Given the description of an element on the screen output the (x, y) to click on. 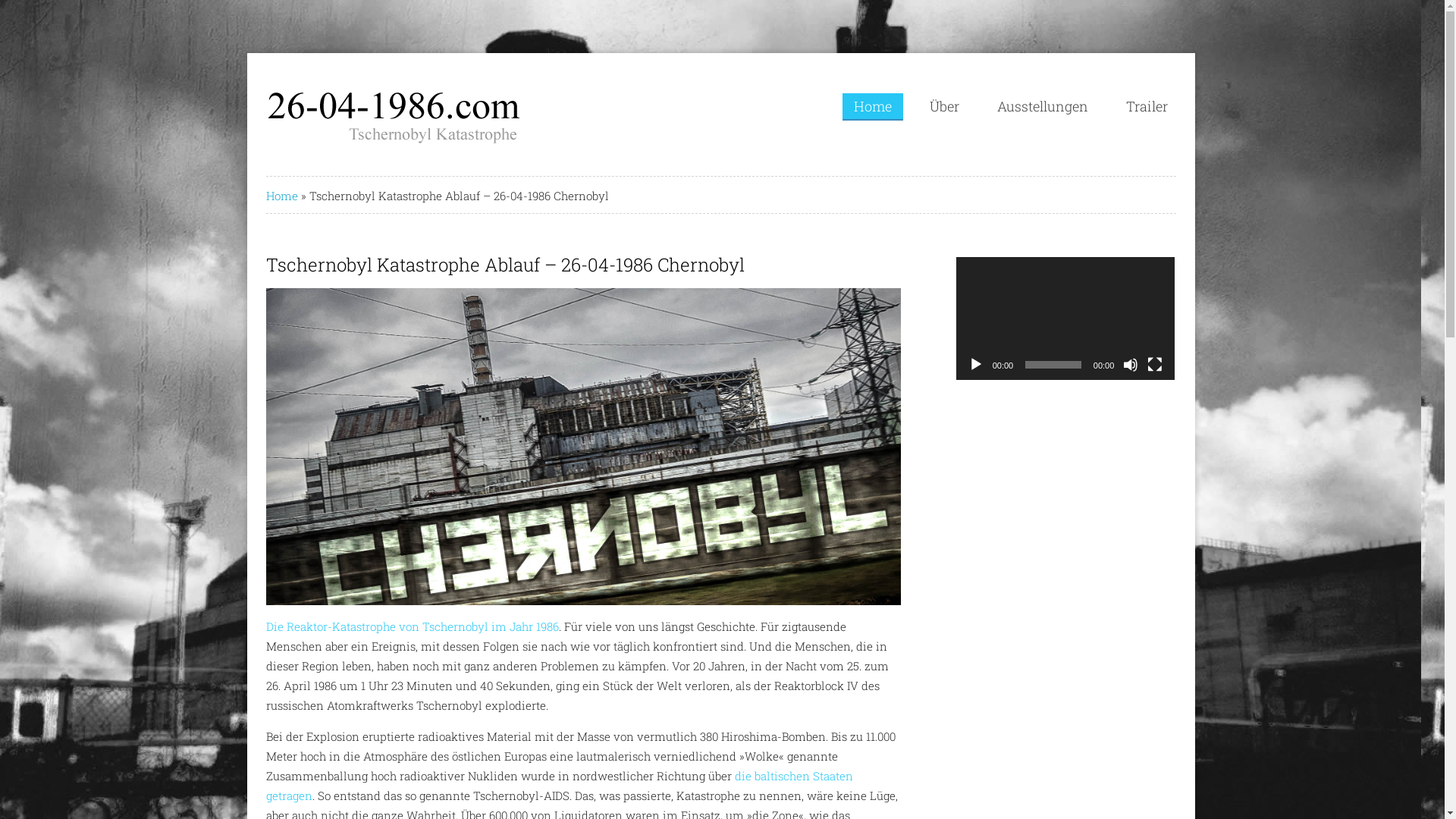
Ausstellungen Element type: text (1042, 106)
Play Element type: hover (975, 364)
Home Element type: text (282, 195)
die baltischen Staaten getragen Element type: text (559, 785)
Die Reaktor-Katastrophe von Tschernobyl im Jahr 1986 Element type: text (412, 625)
Home Element type: text (872, 106)
Mute Element type: hover (1130, 364)
Trailer Element type: text (1146, 106)
Fullscreen Element type: hover (1154, 364)
